Given the description of an element on the screen output the (x, y) to click on. 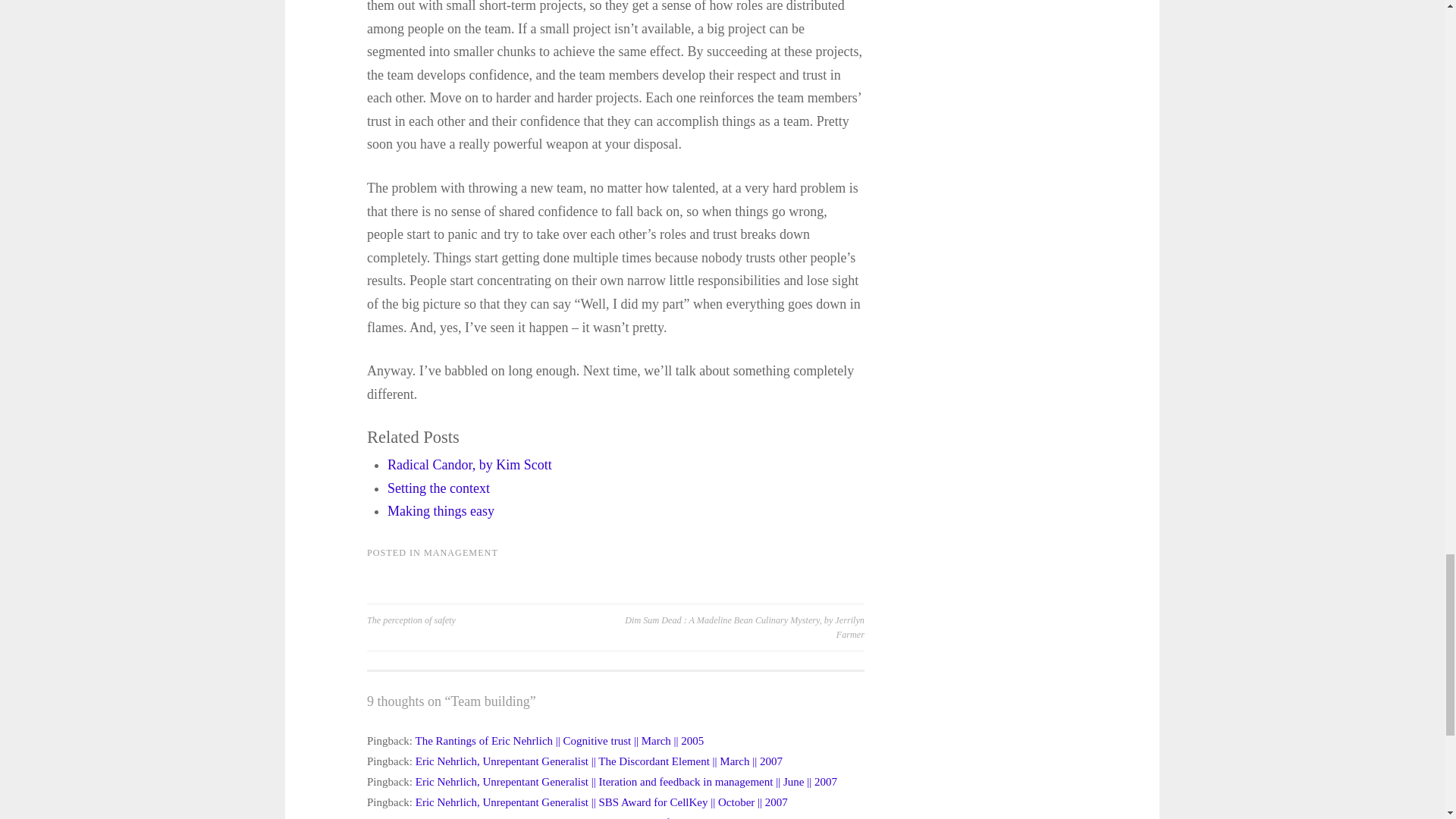
The perception of safety (490, 620)
Making things easy (441, 510)
MANAGEMENT (460, 552)
Making things easy (441, 510)
Setting the context (438, 488)
Setting the context (438, 488)
Radical Candor, by Kim Scott (469, 464)
Radical Candor, by Kim Scott (469, 464)
